Given the description of an element on the screen output the (x, y) to click on. 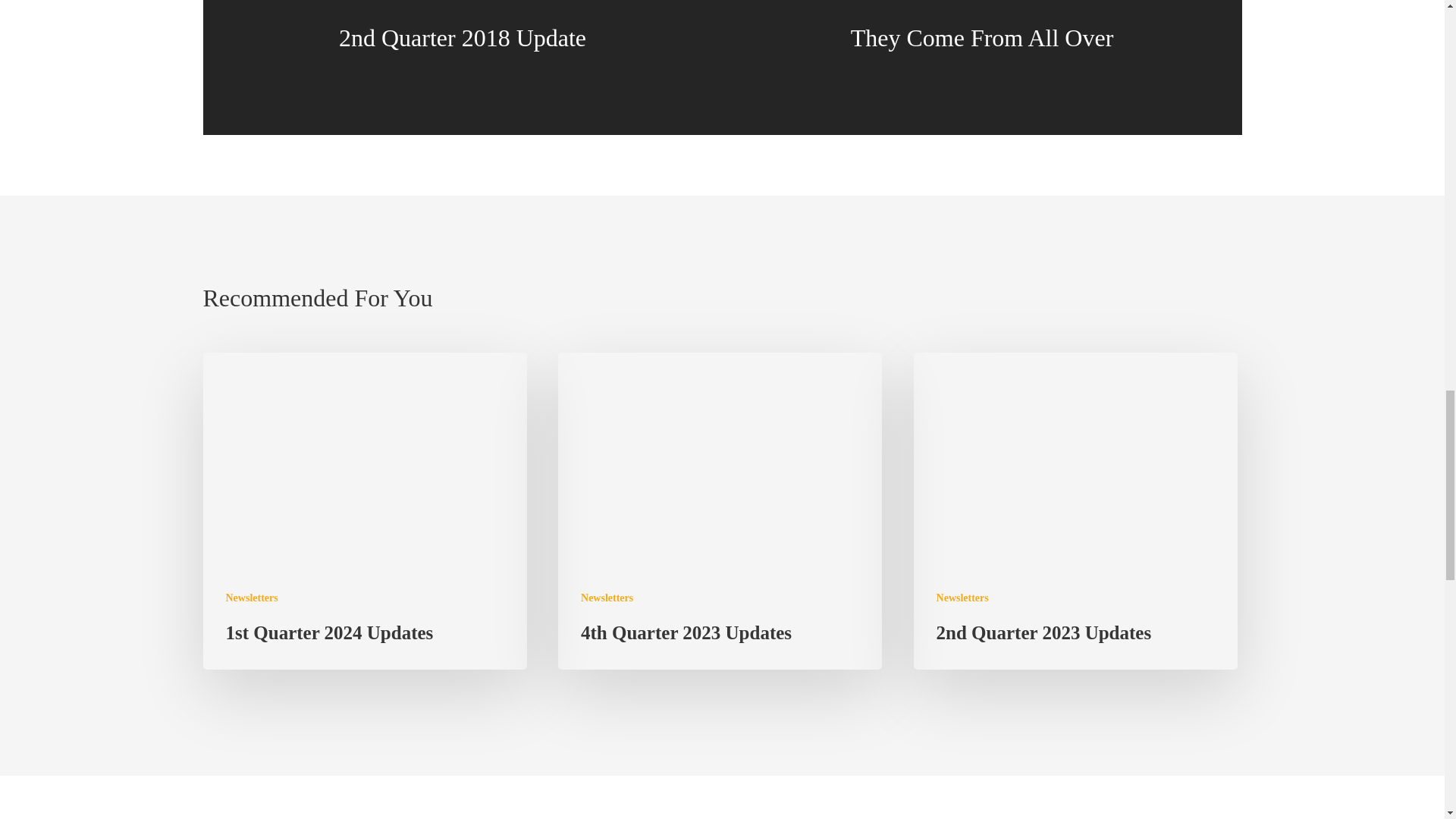
Newsletters (962, 597)
Newsletters (251, 597)
Newsletters (606, 597)
